Given the description of an element on the screen output the (x, y) to click on. 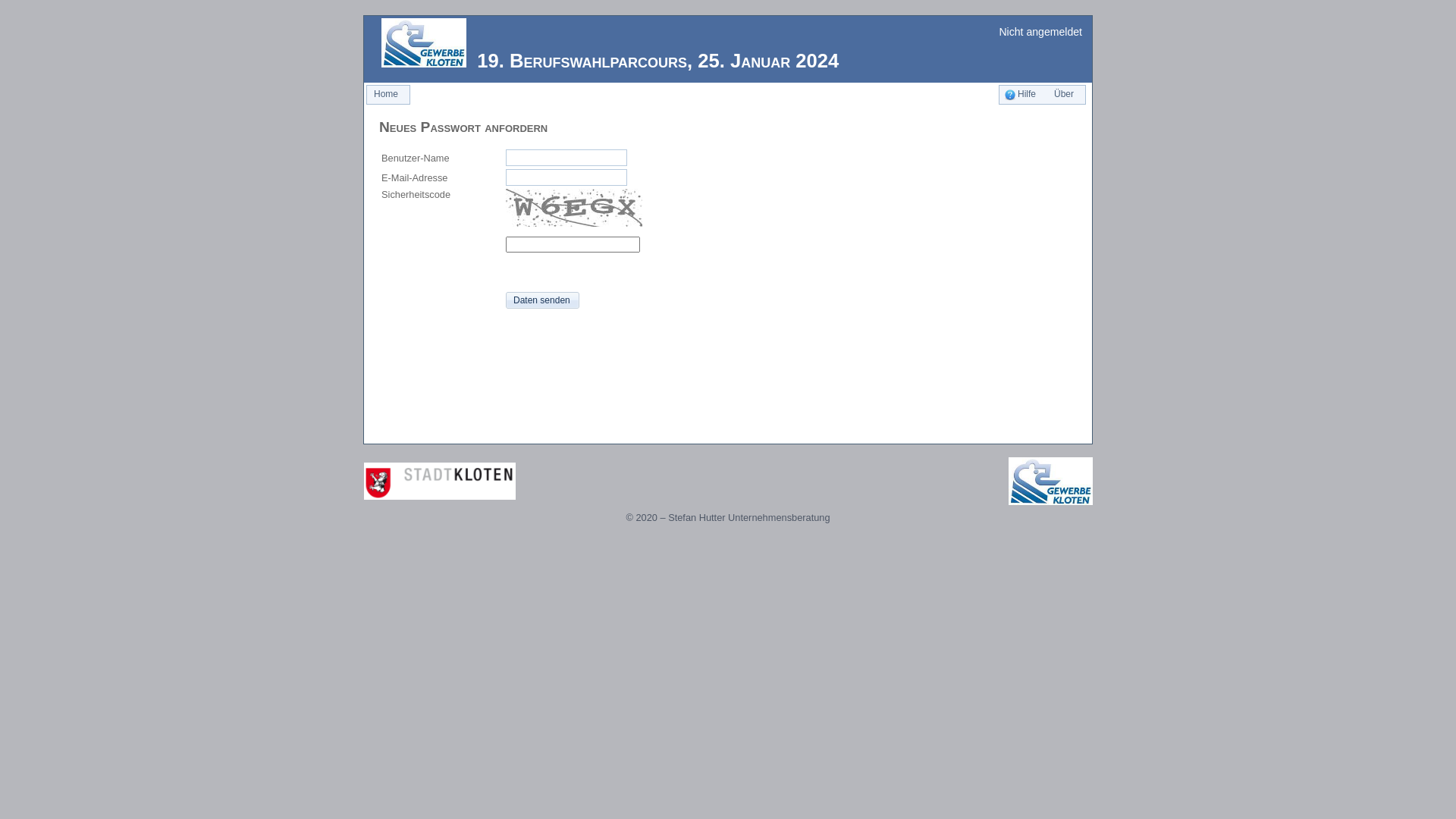
Daten senden Element type: text (543, 299)
Home Element type: text (385, 94)
Hilfe Element type: text (1020, 94)
